Given the description of an element on the screen output the (x, y) to click on. 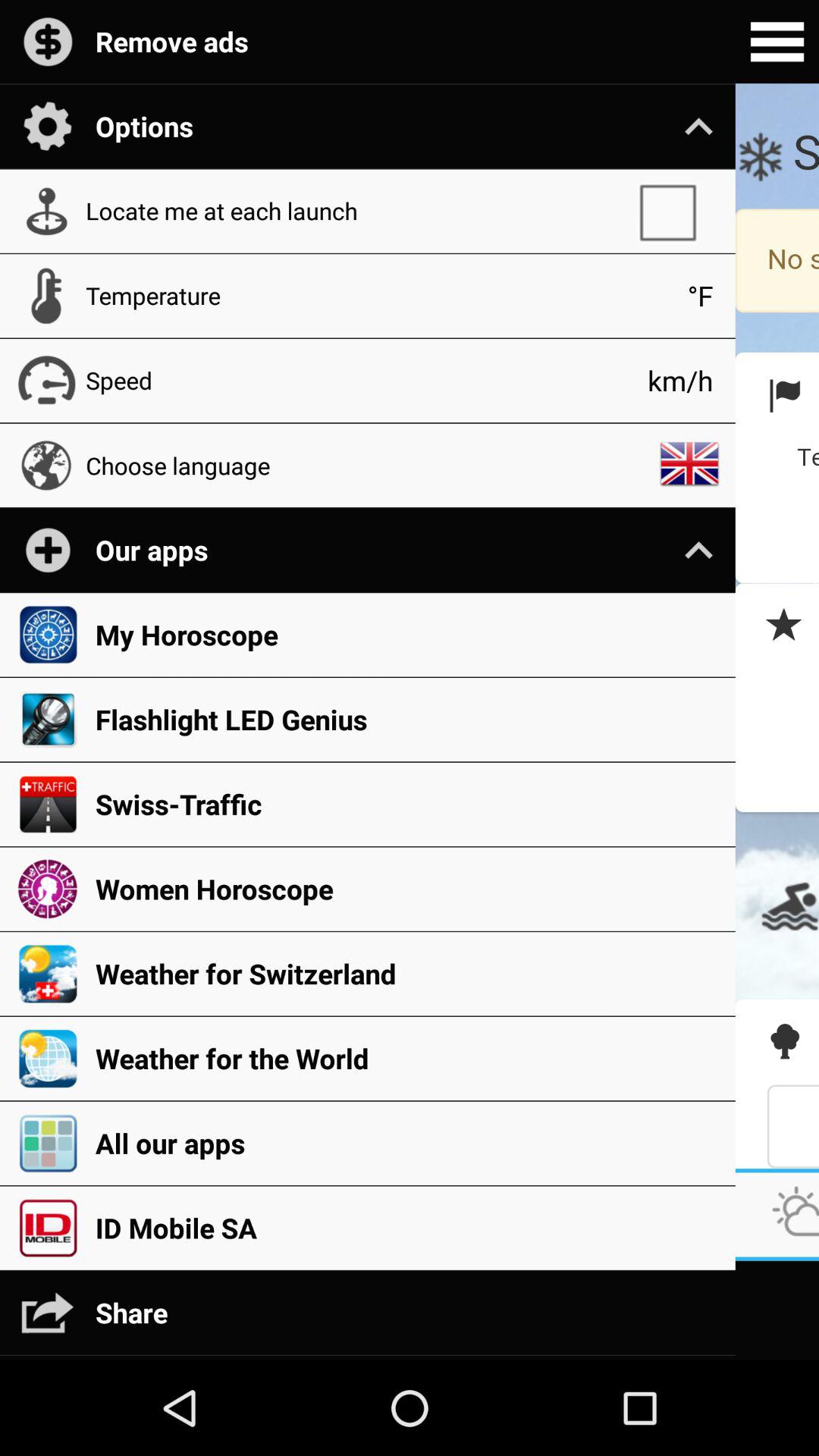
toggle settings tab (777, 41)
